Given the description of an element on the screen output the (x, y) to click on. 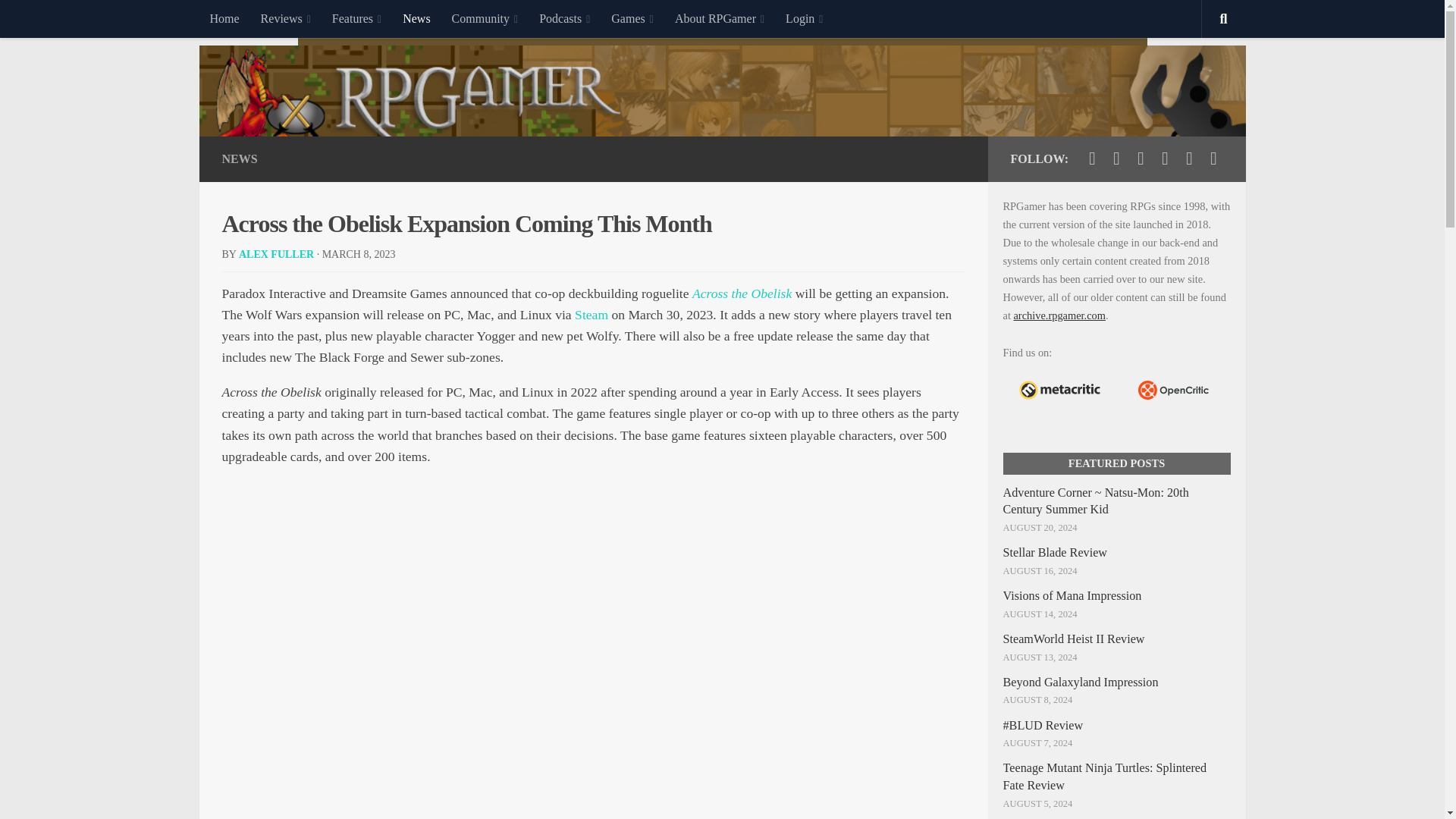
Follow us on Twitch (1164, 158)
Follow us on Twitter (1091, 158)
Follow us on Facebook (1115, 158)
Skip to content (59, 20)
Posts by Alex Fuller (276, 254)
Follow us on Rss (1213, 158)
Follow us on Discord (1188, 158)
Follow us on Youtube (1140, 158)
